Given the description of an element on the screen output the (x, y) to click on. 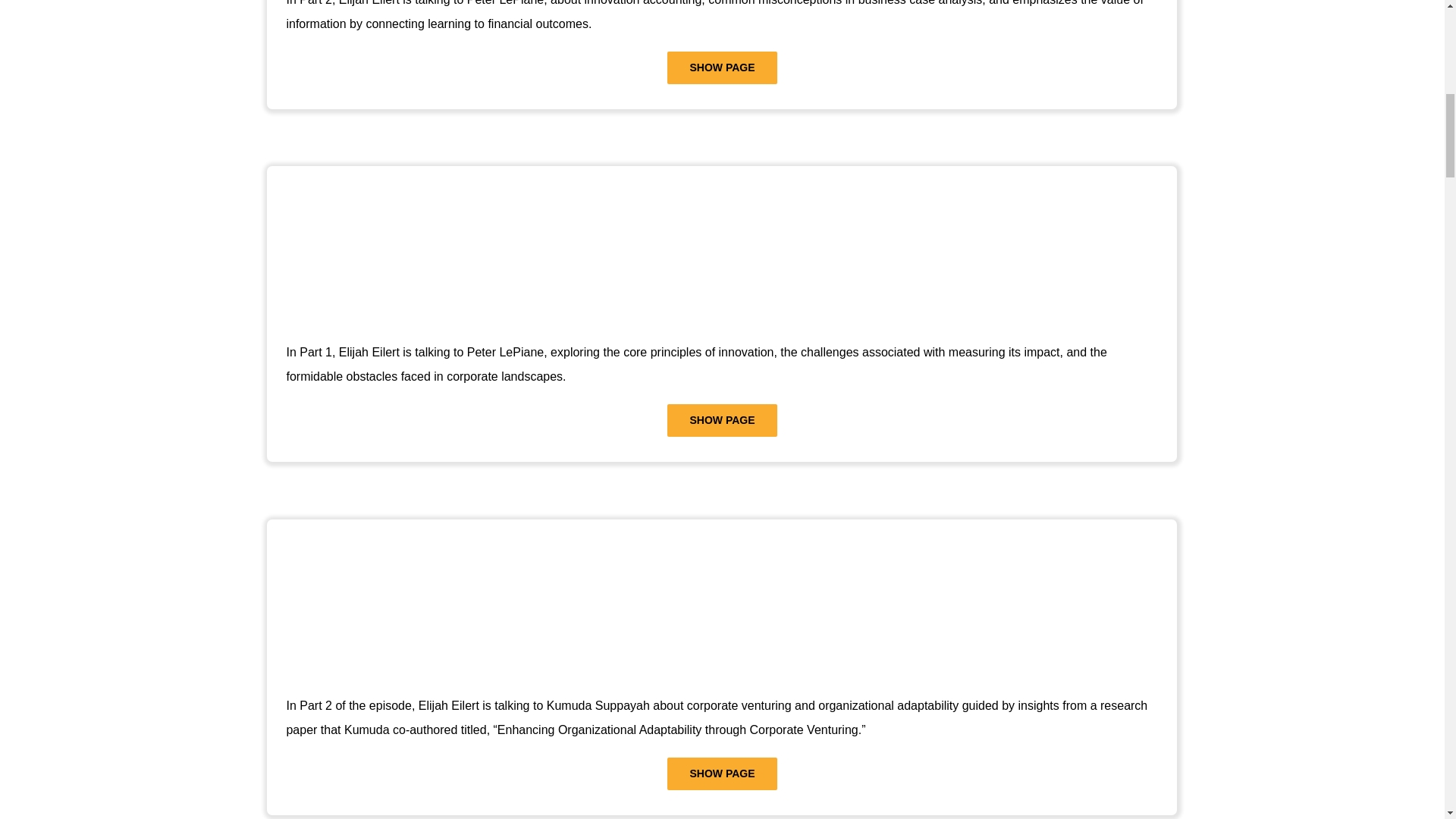
SHOW PAGE (721, 773)
SHOW PAGE (721, 67)
SHOW PAGE (721, 420)
